Given the description of an element on the screen output the (x, y) to click on. 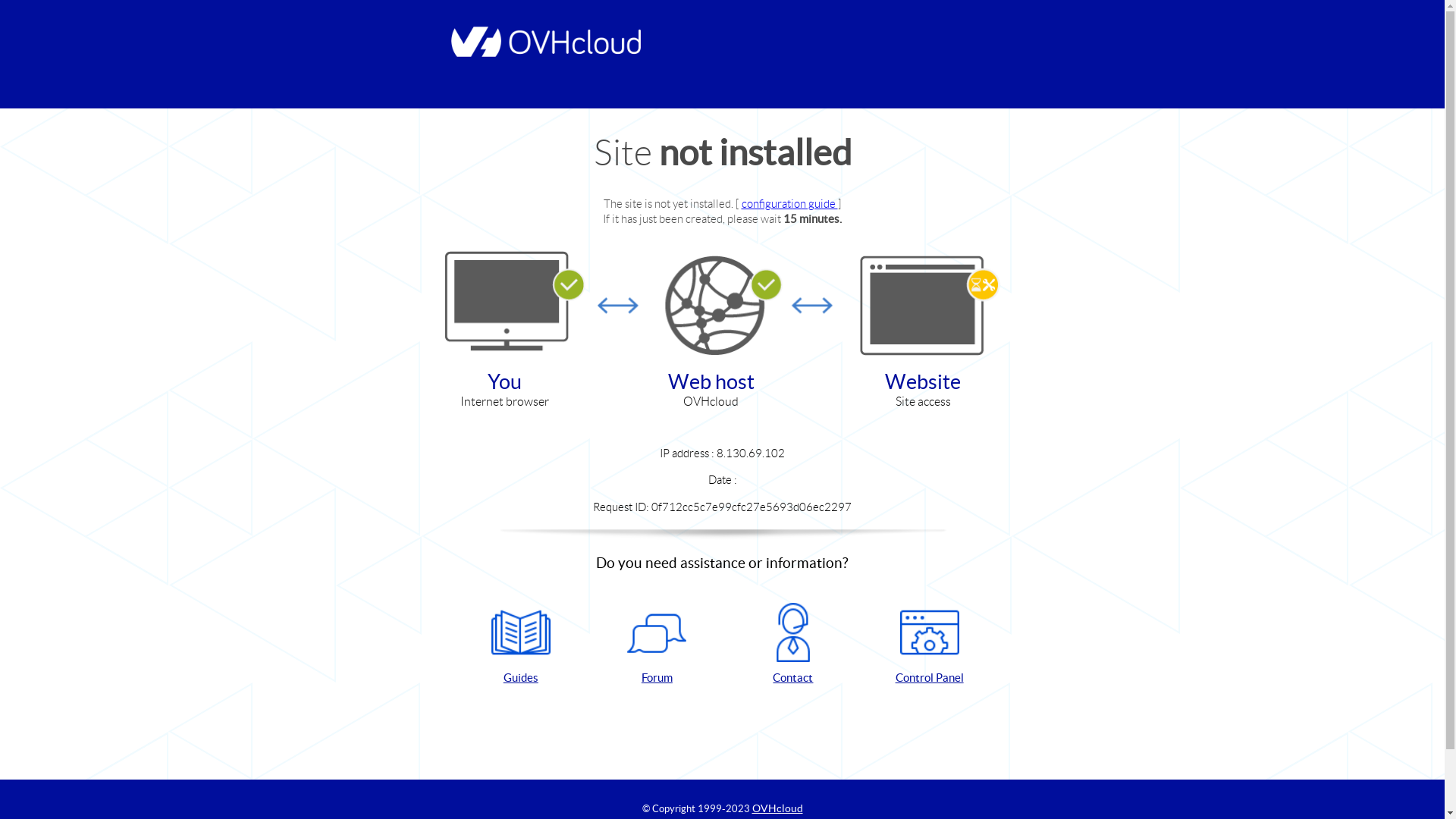
Control Panel Element type: text (929, 644)
Forum Element type: text (656, 644)
configuration guide Element type: text (789, 203)
OVHcloud Element type: text (777, 808)
Contact Element type: text (792, 644)
Guides Element type: text (520, 644)
